Given the description of an element on the screen output the (x, y) to click on. 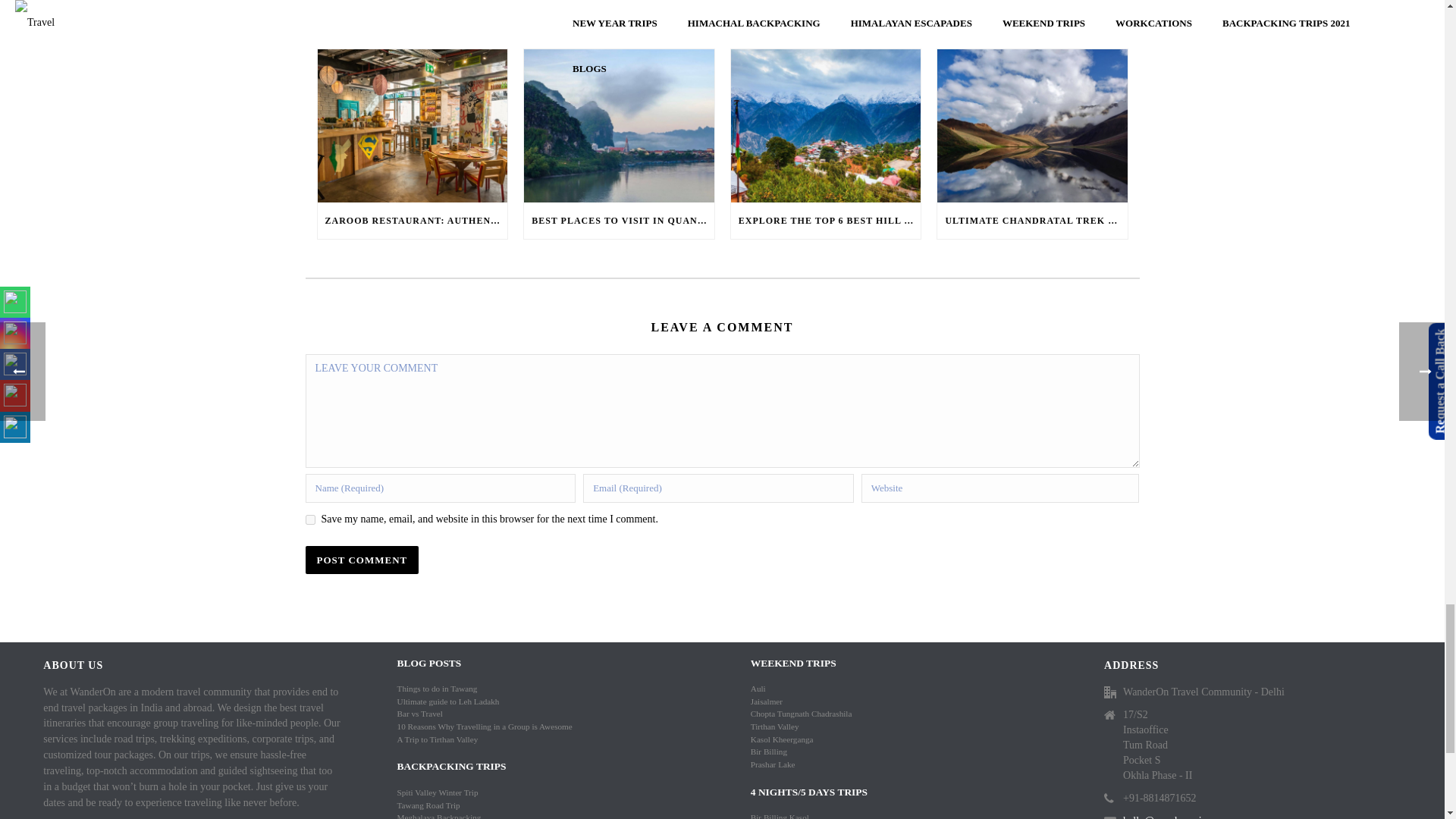
yes (309, 519)
Zaroob Restaurant: Authentic Levantine Street Food in Dubai! (411, 125)
POST COMMENT (361, 560)
